Given the description of an element on the screen output the (x, y) to click on. 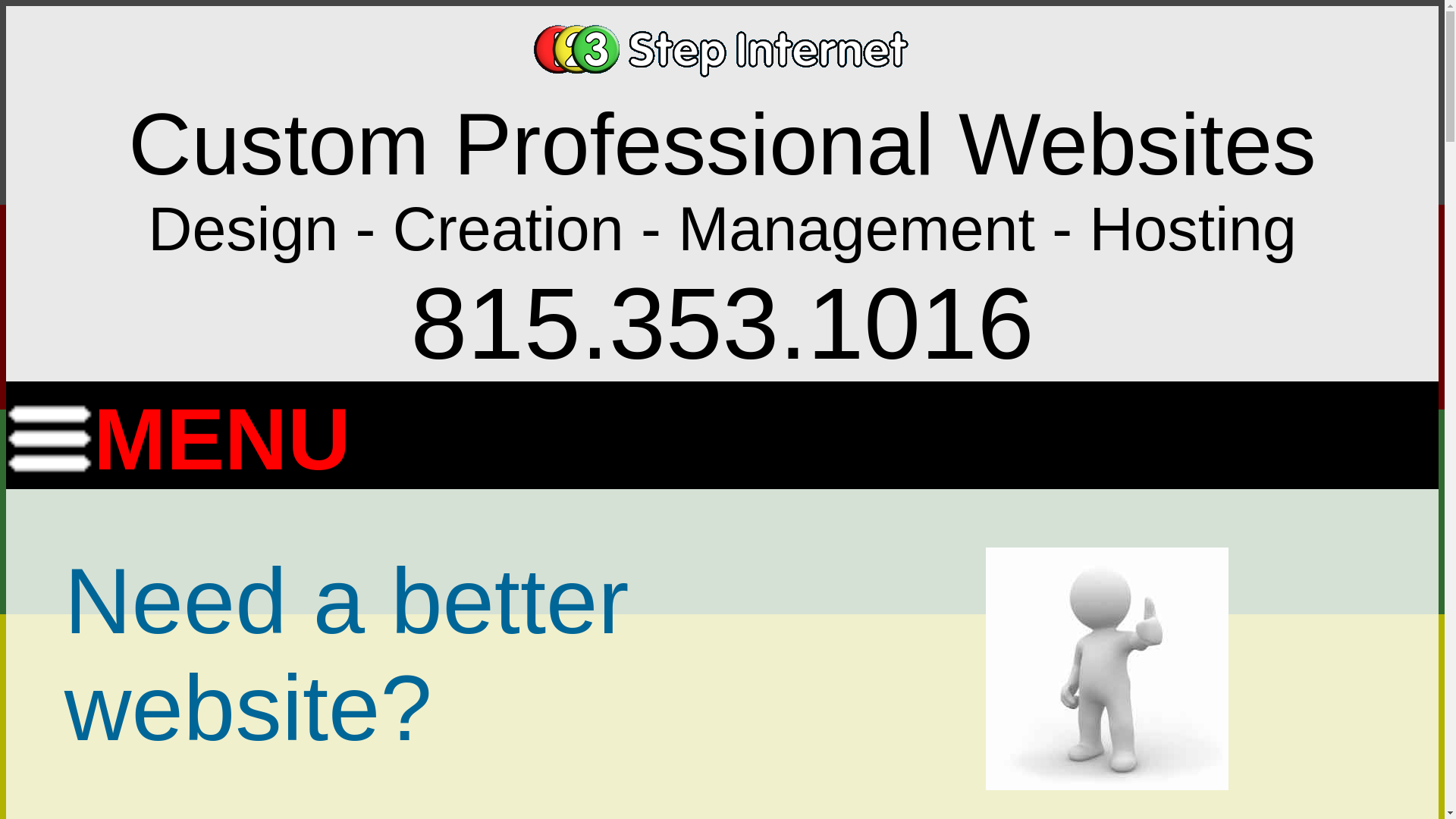
MENU Element type: text (178, 431)
3 Step Sites Are A-Ok Element type: hover (1106, 668)
